Given the description of an element on the screen output the (x, y) to click on. 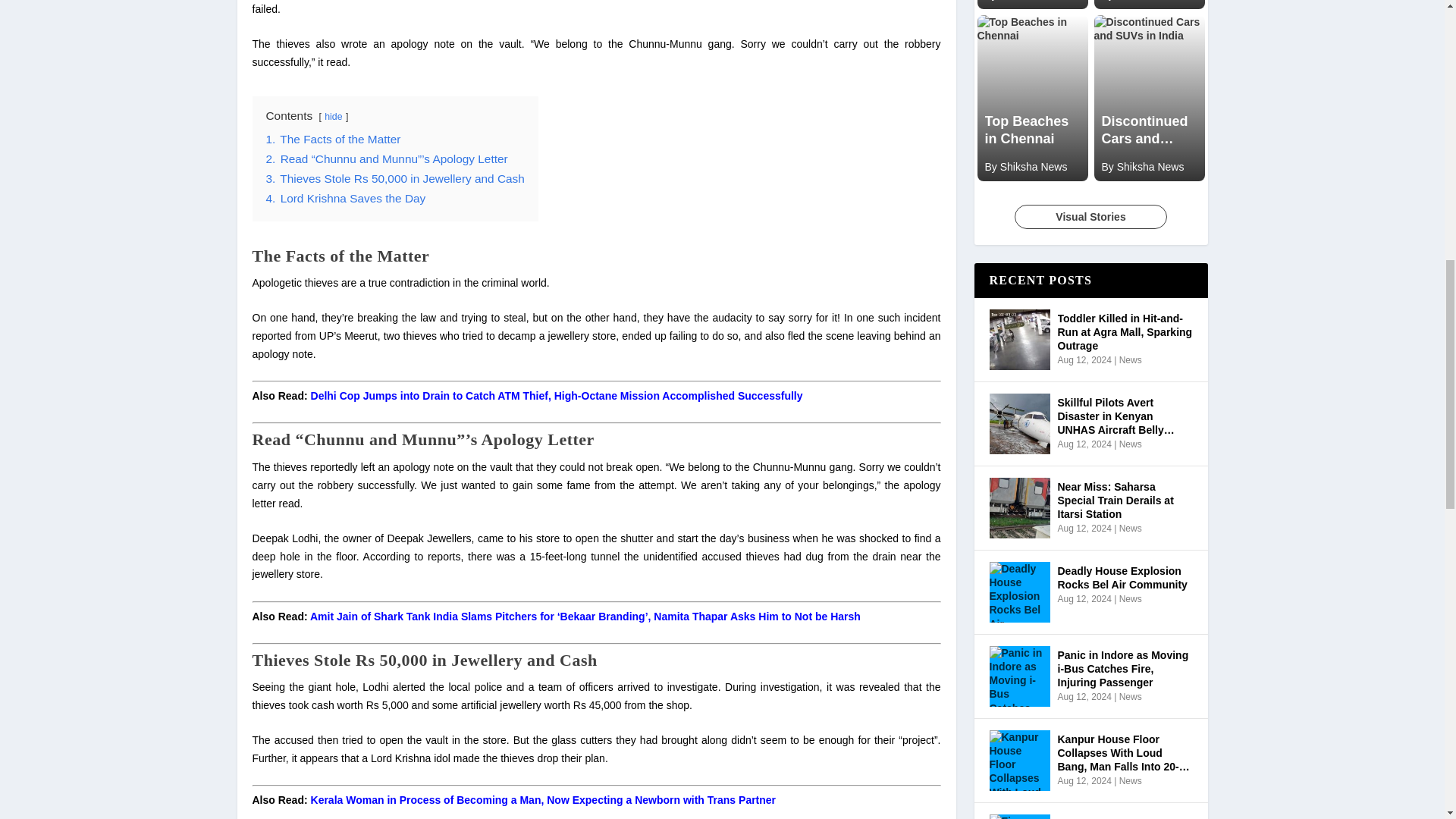
3. Thieves Stole Rs 50,000 in Jewellery and Cash (394, 178)
hide (333, 116)
4. Lord Krishna Saves the Day (344, 197)
Near Miss: Saharsa Special Train Derails at Itarsi Station (1018, 507)
Toddler Killed in Hit-and-Run at Agra Mall, Sparking Outrage (1018, 339)
1. The Facts of the Matter (332, 138)
